Given the description of an element on the screen output the (x, y) to click on. 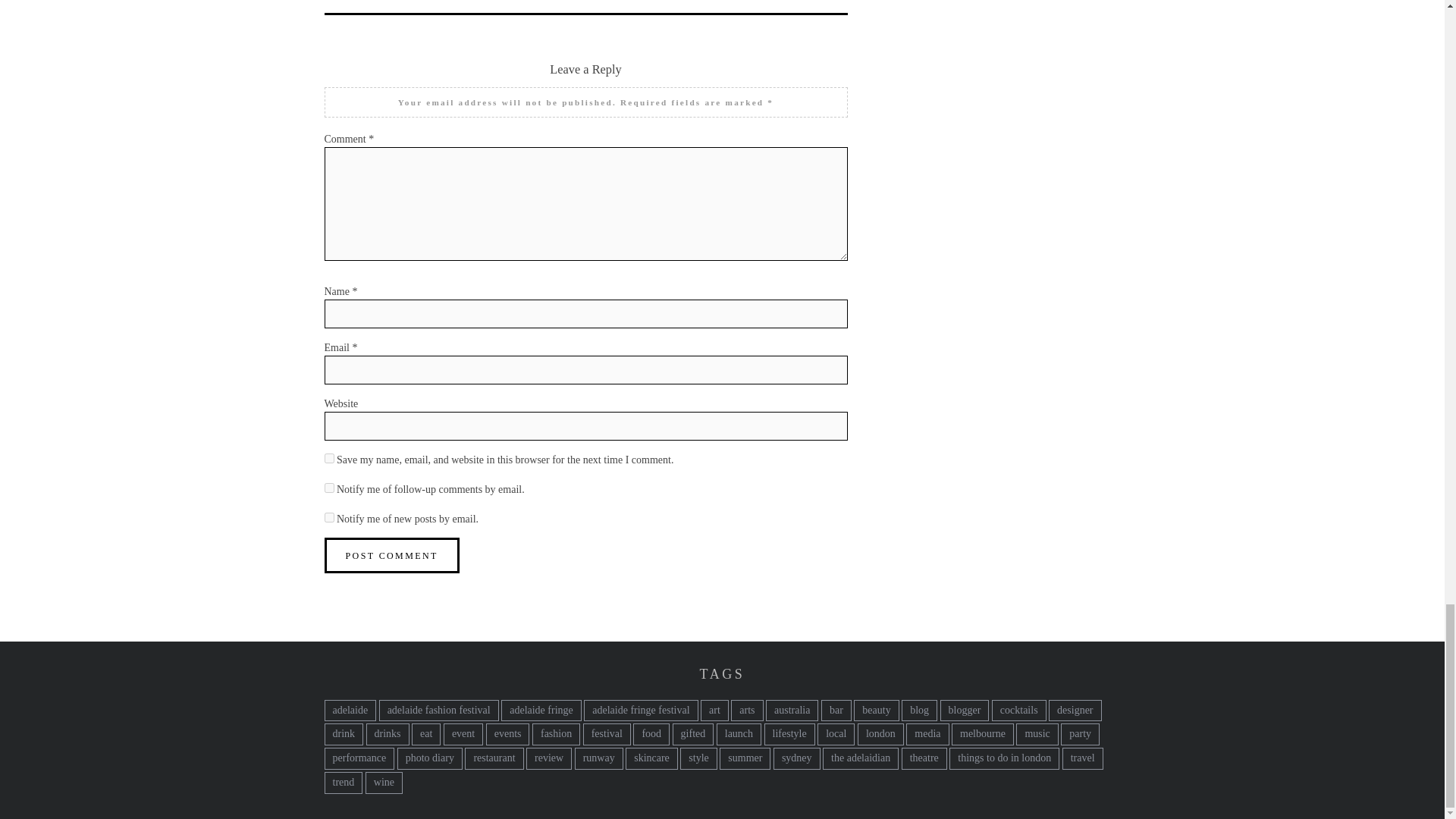
subscribe (329, 488)
subscribe (329, 517)
Post Comment (392, 555)
yes (329, 458)
